Given the description of an element on the screen output the (x, y) to click on. 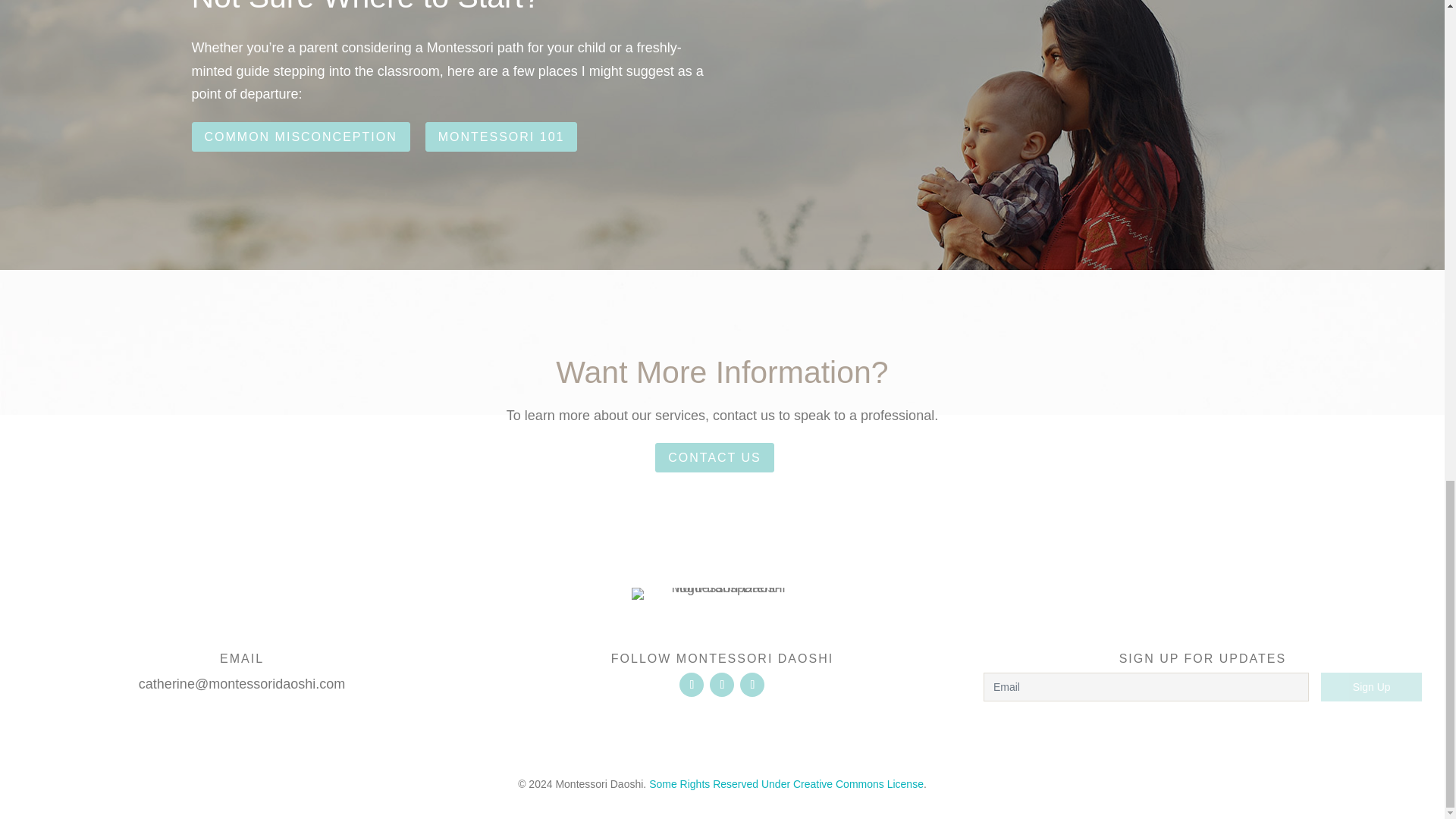
Follow on Instagram (721, 684)
Sign Up (1371, 686)
Follow on LinkedIn (751, 684)
Follow on Facebook (691, 684)
logo-transparent-Montessori-Daoshi (721, 593)
